Given the description of an element on the screen output the (x, y) to click on. 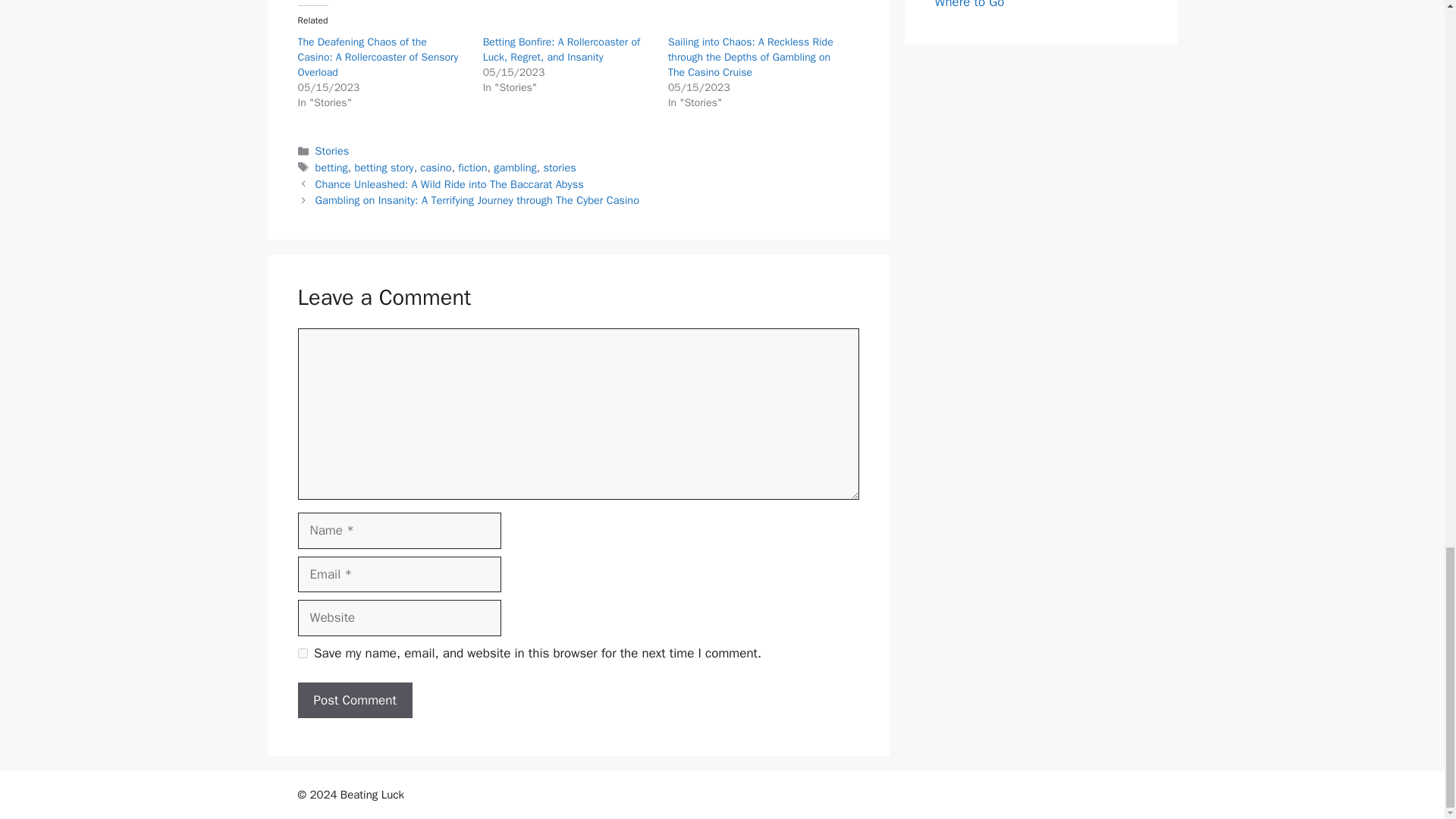
betting story (384, 167)
Post Comment (354, 700)
Post Comment (354, 700)
fiction (472, 167)
yes (302, 653)
gambling (515, 167)
